Given the description of an element on the screen output the (x, y) to click on. 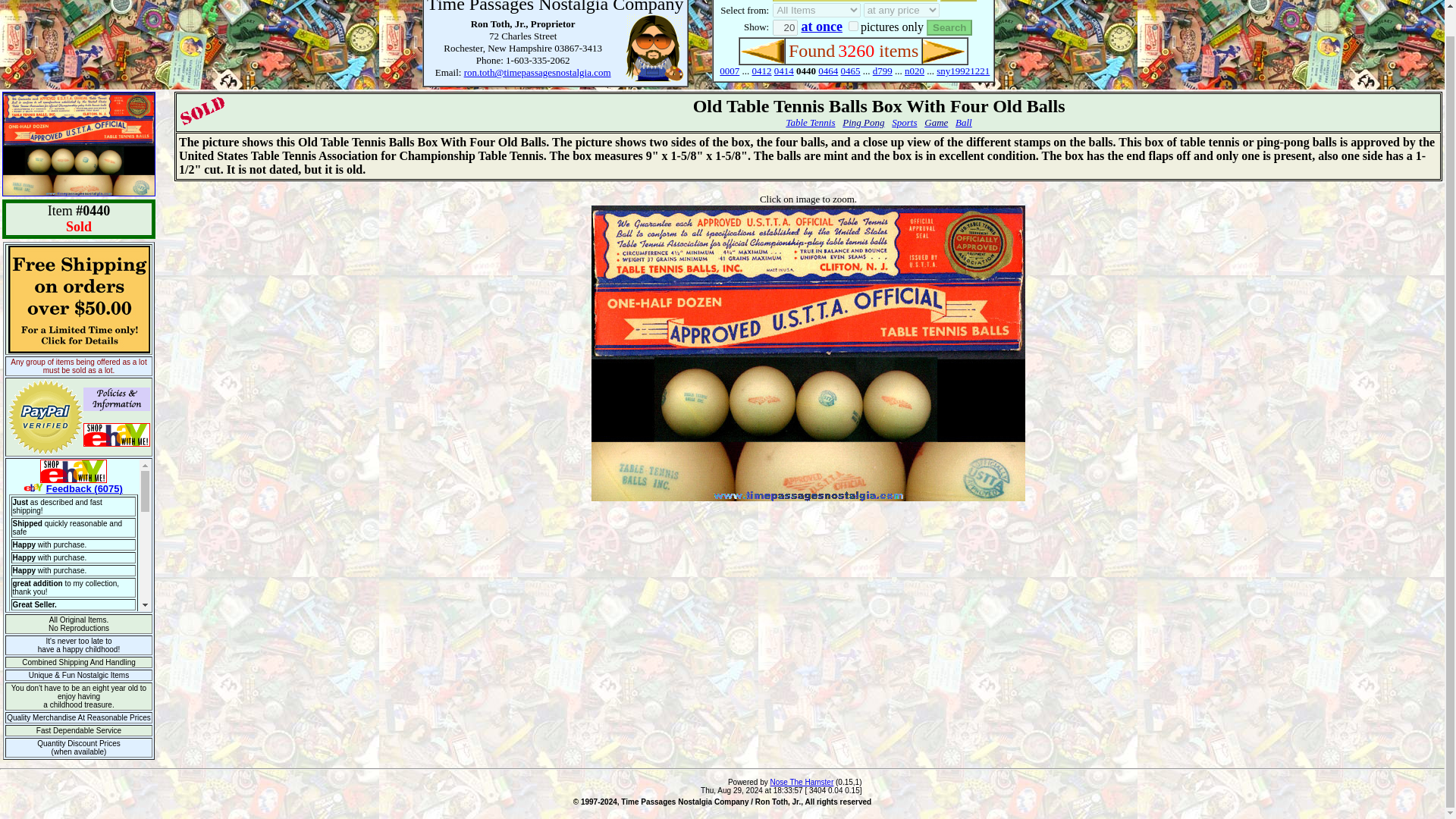
0465 (850, 70)
Click on image to zoom. (808, 197)
Old Table Tennis Balls Box With Four Old Balls (808, 353)
at once (820, 26)
20 (785, 27)
previous page (761, 50)
Sports (904, 122)
0007 (729, 70)
Ping Pong (863, 122)
0464 (828, 70)
